Given the description of an element on the screen output the (x, y) to click on. 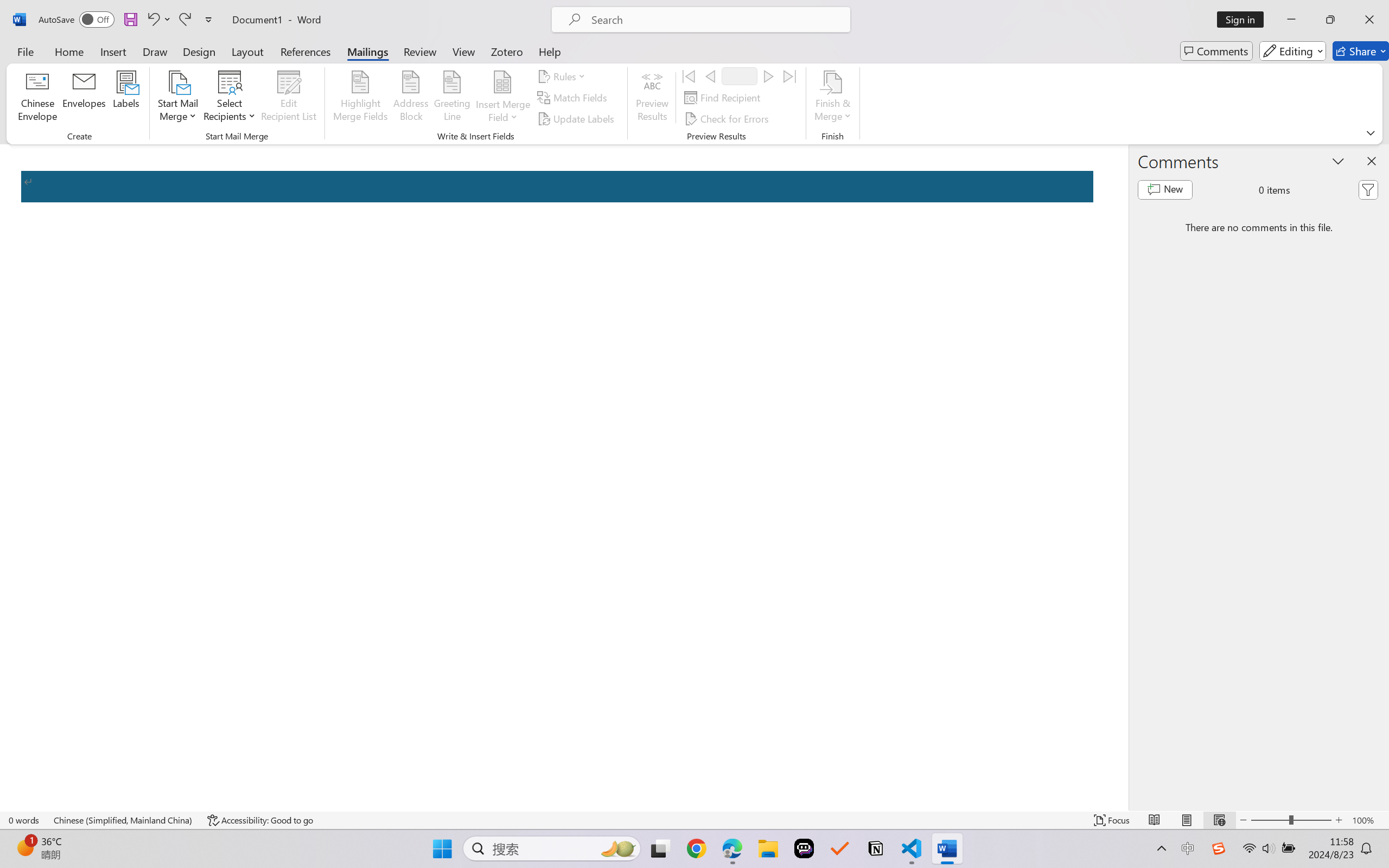
Previous (709, 75)
First (688, 75)
Select Recipients (229, 97)
Undo Apply Quick Style Set (158, 19)
Greeting Line... (451, 97)
Undo Apply Quick Style Set (152, 19)
